Given the description of an element on the screen output the (x, y) to click on. 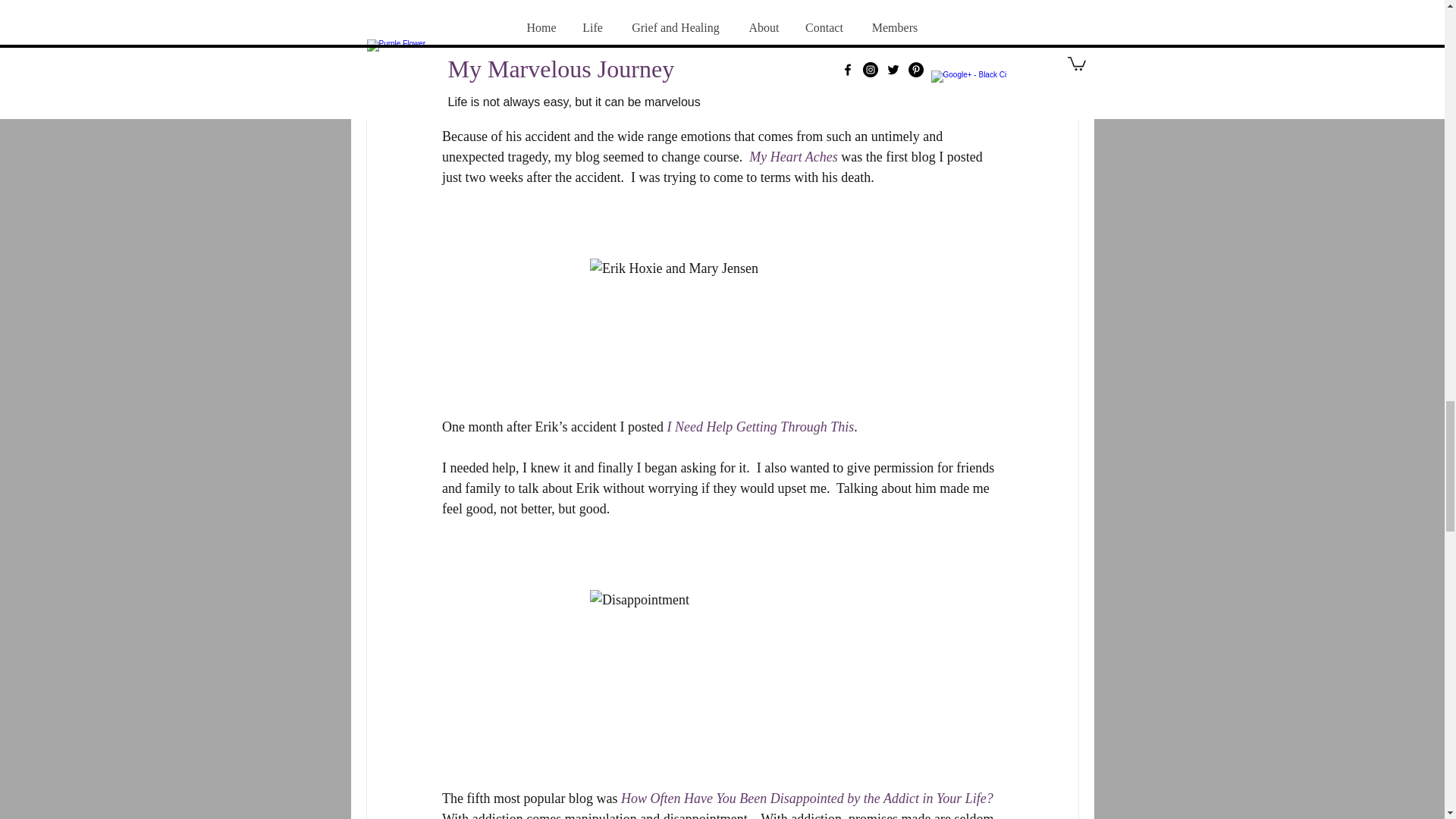
My Heart Aches (793, 156)
I Need Help Getting Through This (759, 426)
